Given the description of an element on the screen output the (x, y) to click on. 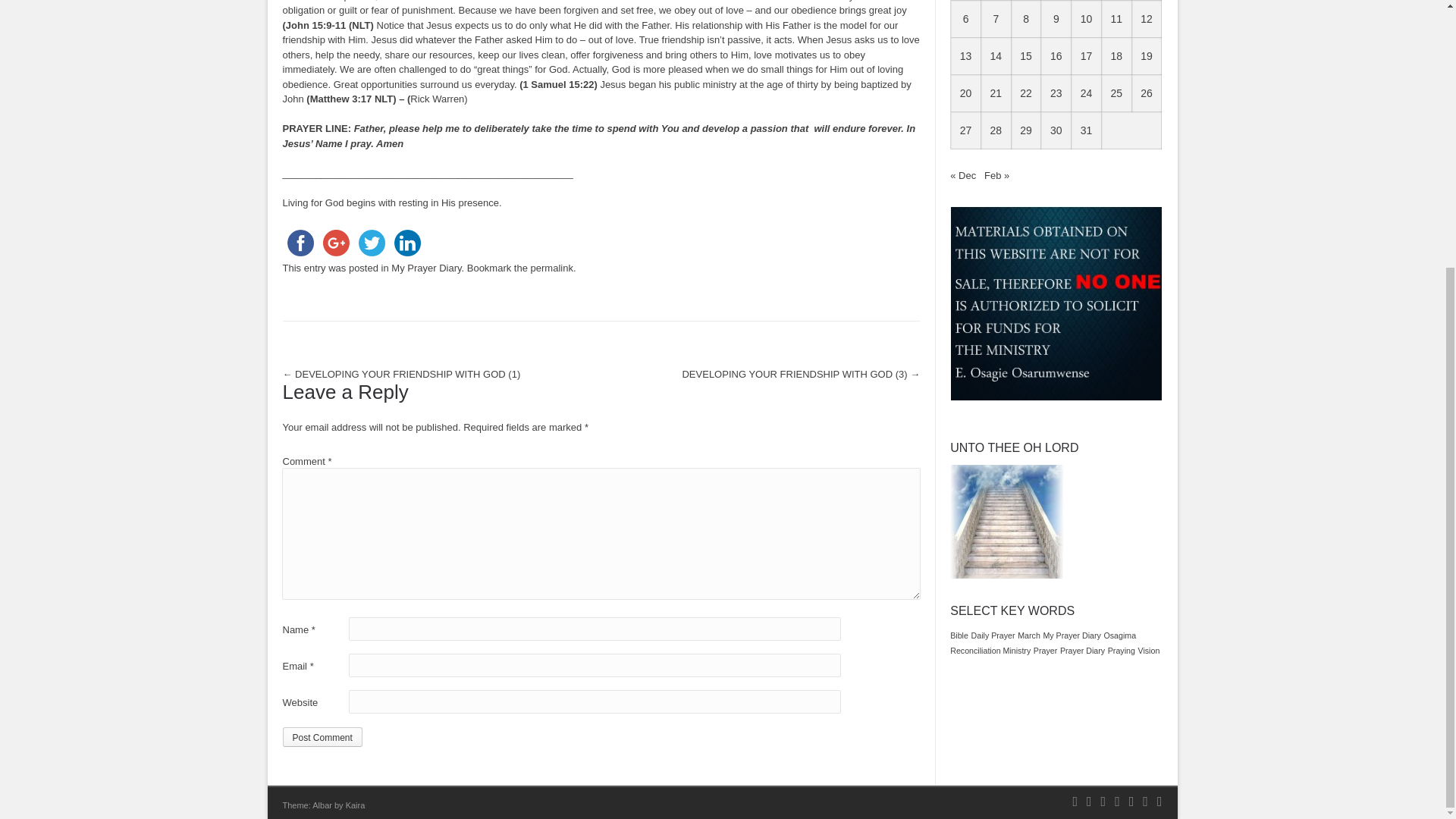
permalink (552, 266)
Post Comment (321, 736)
My Prayer Diary (426, 266)
Post Comment (321, 736)
